Given the description of an element on the screen output the (x, y) to click on. 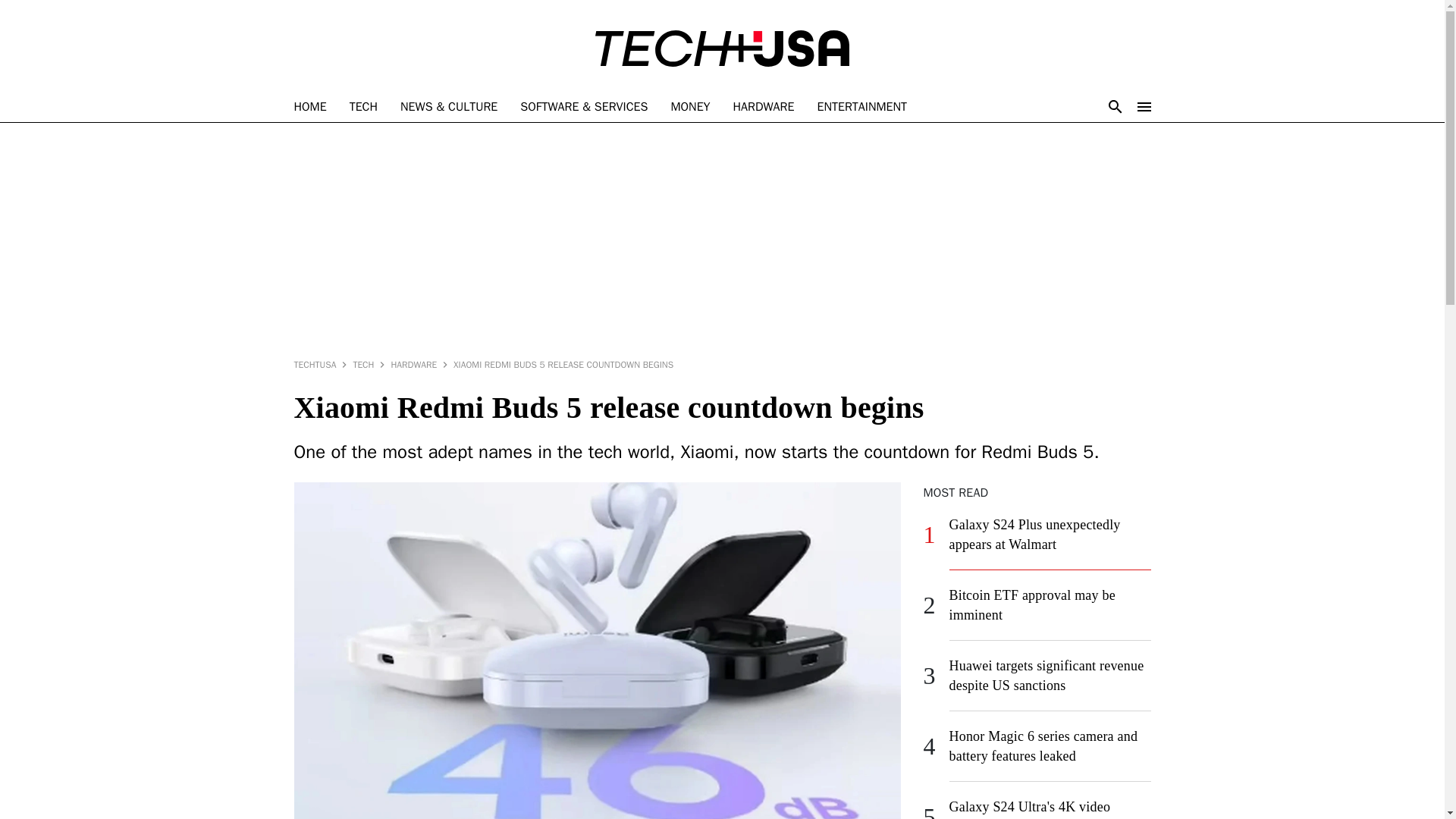
HARDWARE (763, 107)
Menu (1144, 106)
HARDWARE (763, 107)
TechtUSA (310, 107)
TECH (363, 364)
HARDWARE (413, 364)
TECH (363, 107)
TECHTUSA (315, 364)
TECH (363, 107)
MONEY (689, 107)
